Given the description of an element on the screen output the (x, y) to click on. 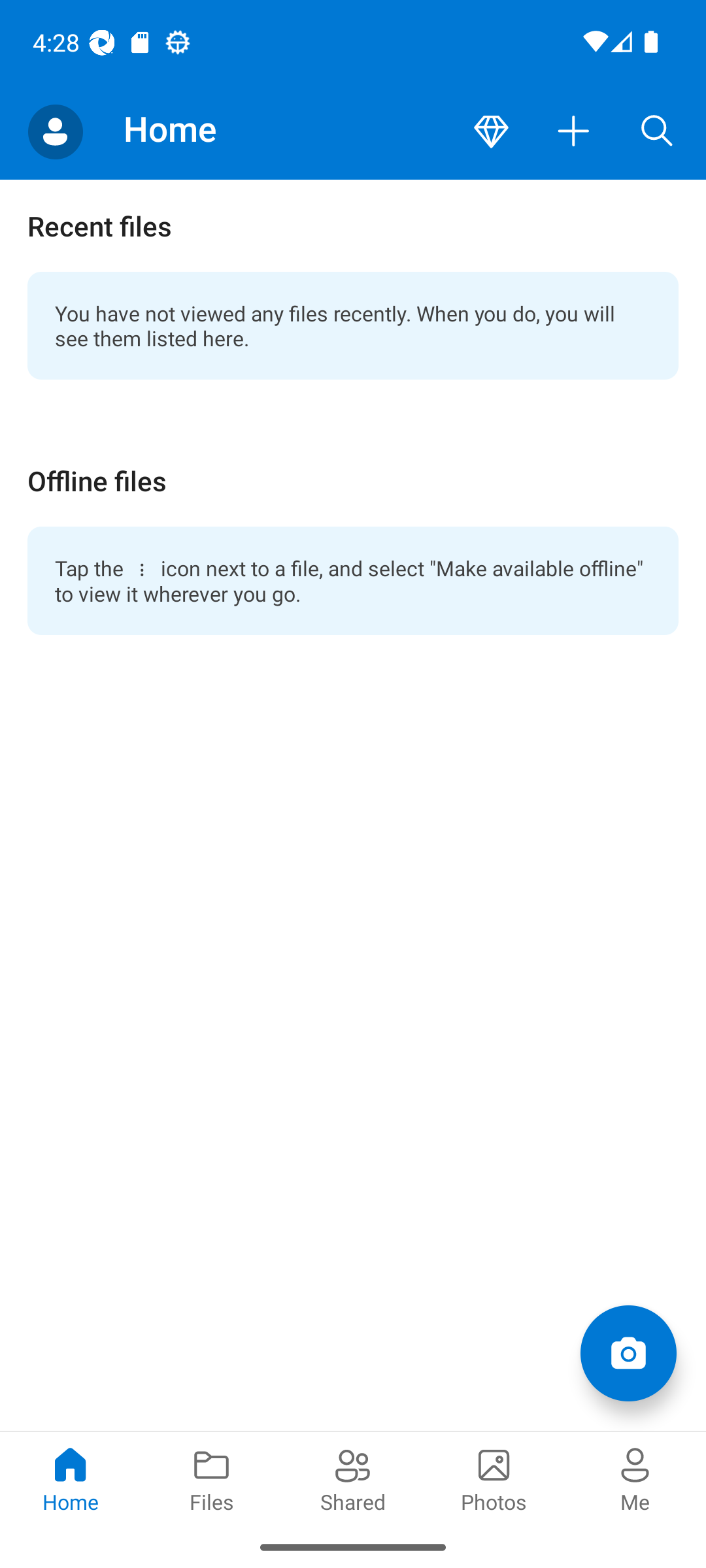
Account switcher (55, 131)
Premium button (491, 131)
More actions button (574, 131)
Search button (656, 131)
Scan (628, 1352)
Files pivot Files (211, 1478)
Shared pivot Shared (352, 1478)
Photos pivot Photos (493, 1478)
Me pivot Me (635, 1478)
